Given the description of an element on the screen output the (x, y) to click on. 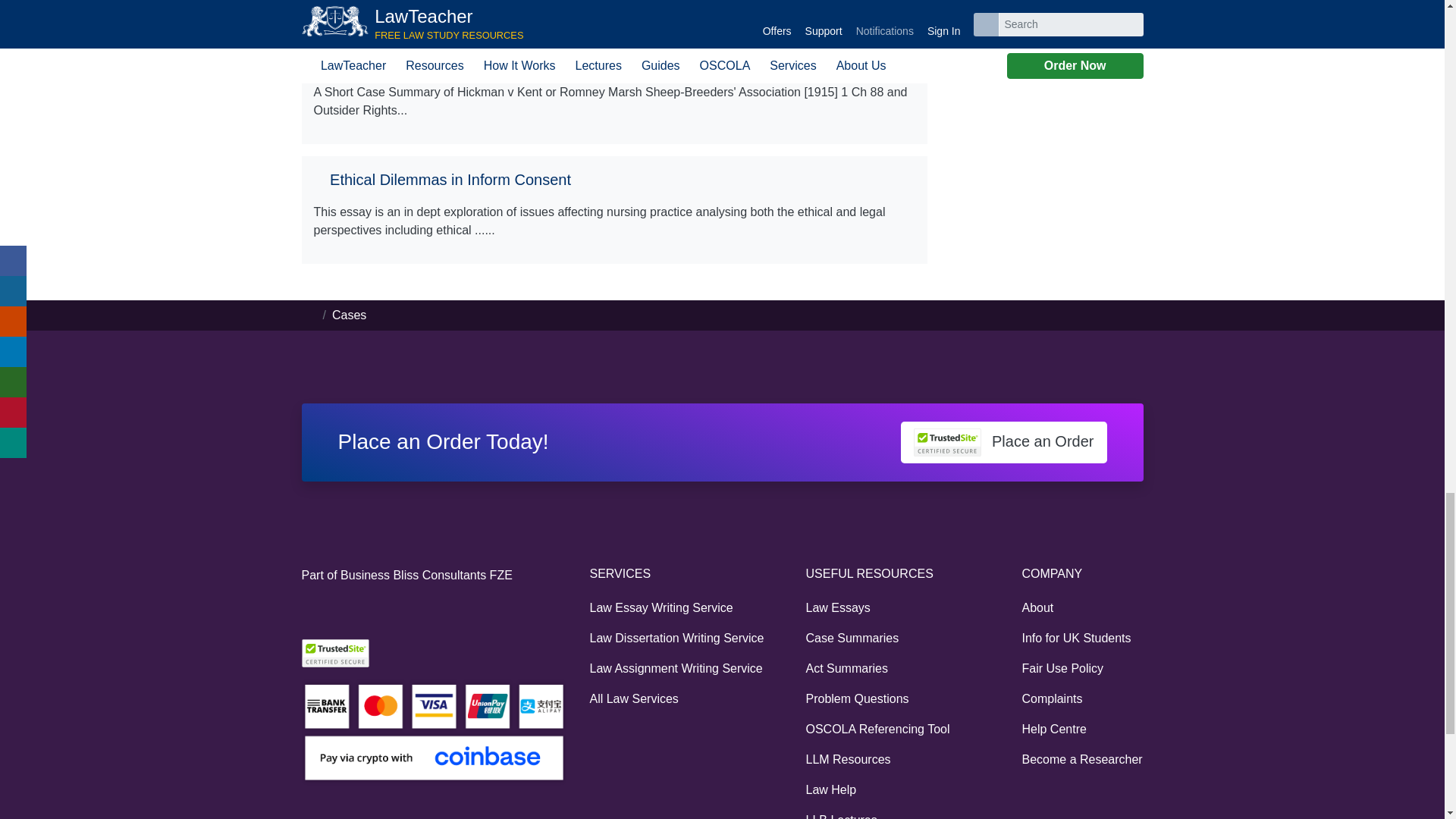
homepage link (309, 314)
